Given the description of an element on the screen output the (x, y) to click on. 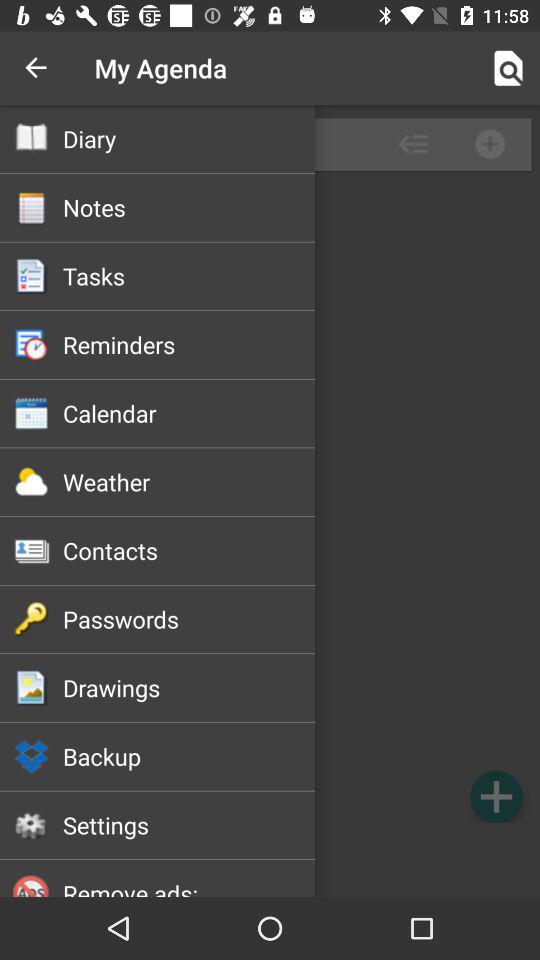
turn off tasks (188, 276)
